Given the description of an element on the screen output the (x, y) to click on. 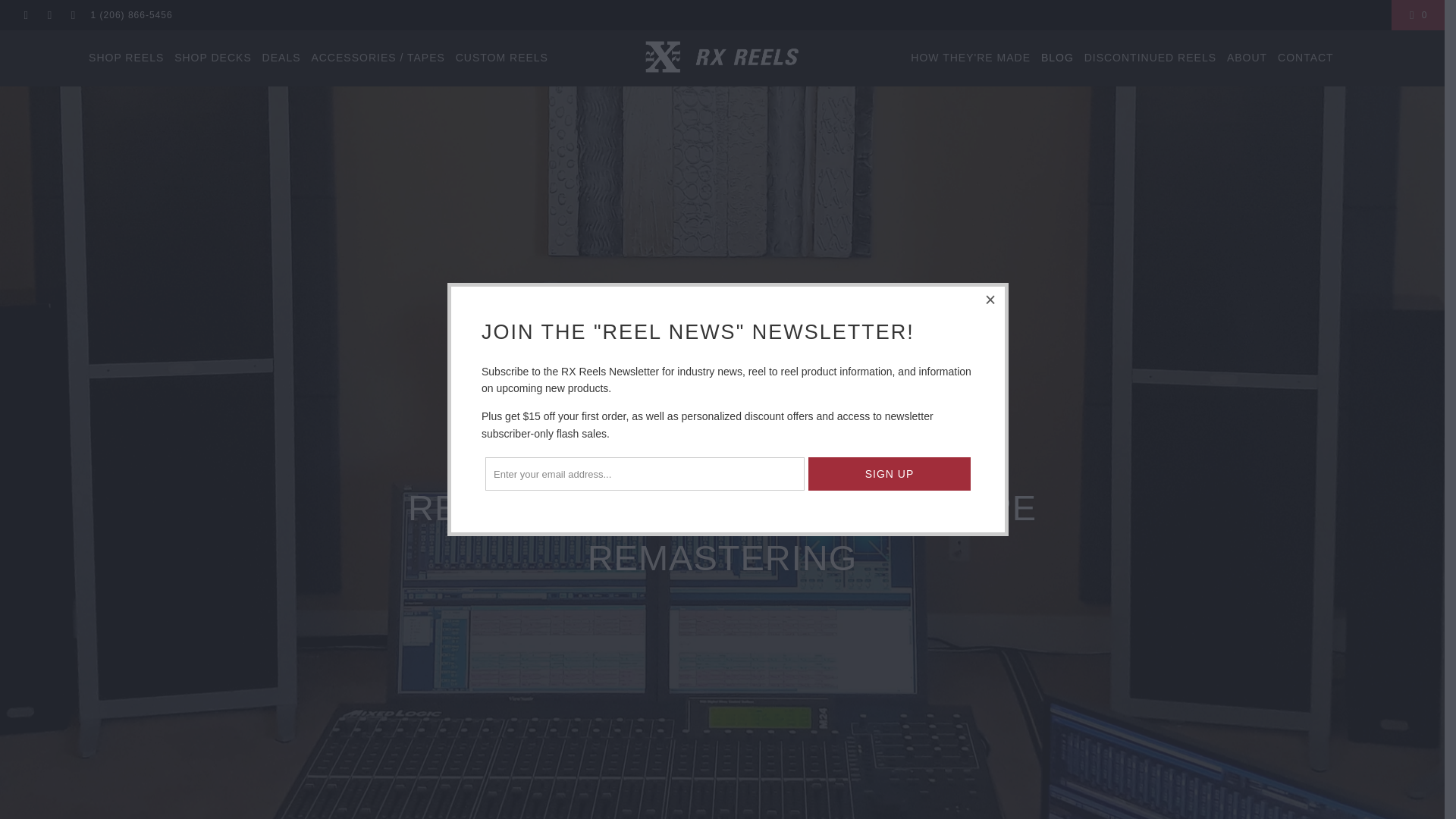
DISCONTINUED REELS (1149, 58)
SHOP REELS (125, 58)
HOW THEY'RE MADE (970, 58)
BLOG (1057, 58)
Sign Up (889, 473)
CONTACT (1305, 58)
RX Reels on Instagram (71, 14)
RX Reels on Facebook (25, 14)
DEALS (281, 58)
RX Reels (722, 57)
CUSTOM REELS (501, 58)
SHOP DECKS (212, 58)
RX Reels on YouTube (48, 14)
ABOUT (1246, 58)
